Given the description of an element on the screen output the (x, y) to click on. 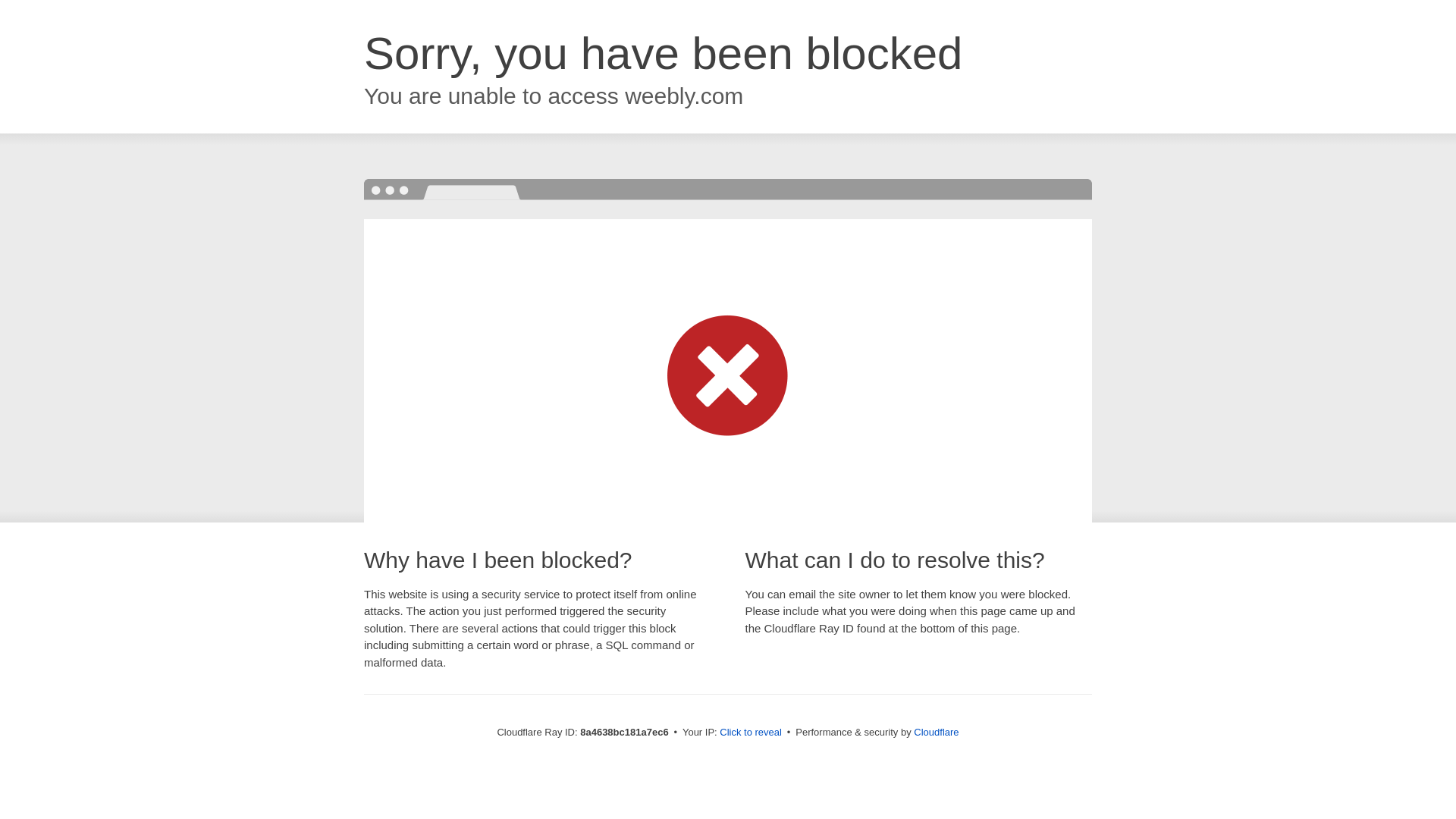
Click to reveal (750, 732)
Cloudflare (936, 731)
